Given the description of an element on the screen output the (x, y) to click on. 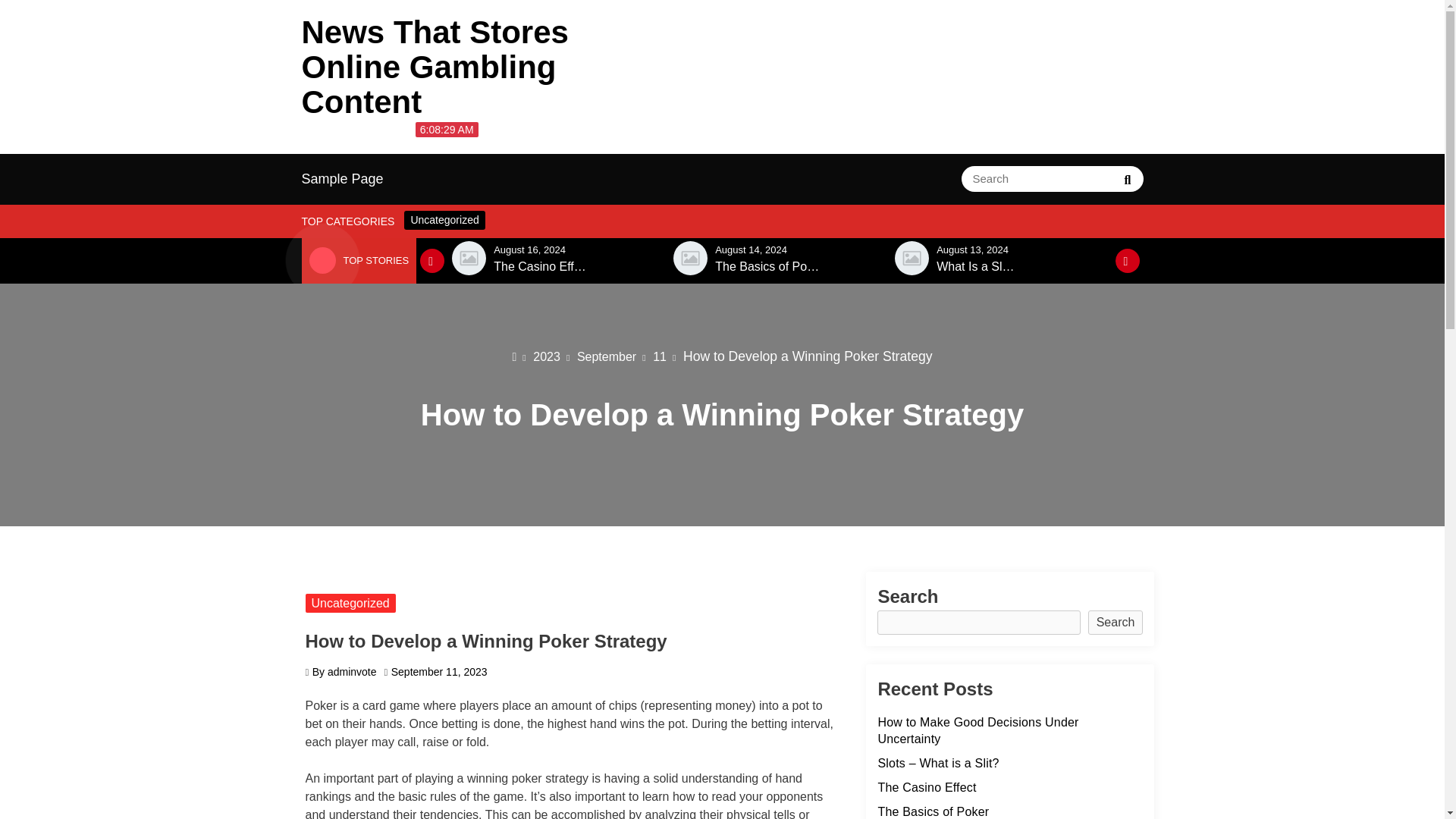
What Is a Slot? (977, 266)
News That Stores Online Gambling Content (435, 66)
Sample Page (342, 178)
The Basics of Poker (769, 266)
Search (1127, 178)
The Casino Effect (541, 266)
August 13, 2024 (972, 249)
August 16, 2024 (529, 249)
August 14, 2024 (750, 249)
Uncategorized (444, 220)
